Given the description of an element on the screen output the (x, y) to click on. 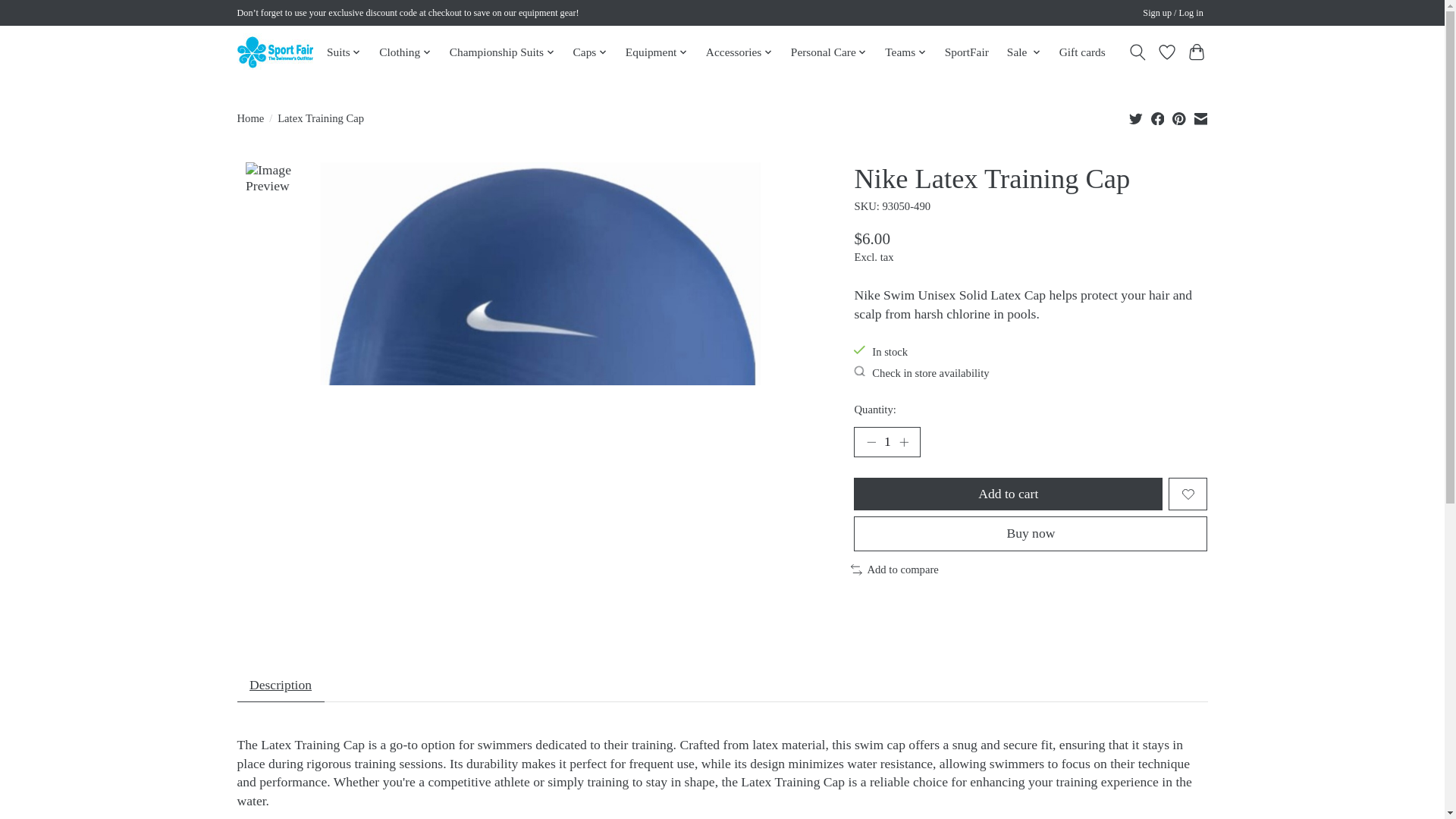
Clothing (405, 52)
Equipment (656, 52)
1 (886, 441)
My account (1173, 13)
Sportfairusa.com. Welcome All Competitive Swimmers. (274, 51)
Share by Email (1200, 118)
Suits (343, 52)
Caps (589, 52)
Championship Suits (501, 52)
Share on Pinterest (1178, 118)
